Given the description of an element on the screen output the (x, y) to click on. 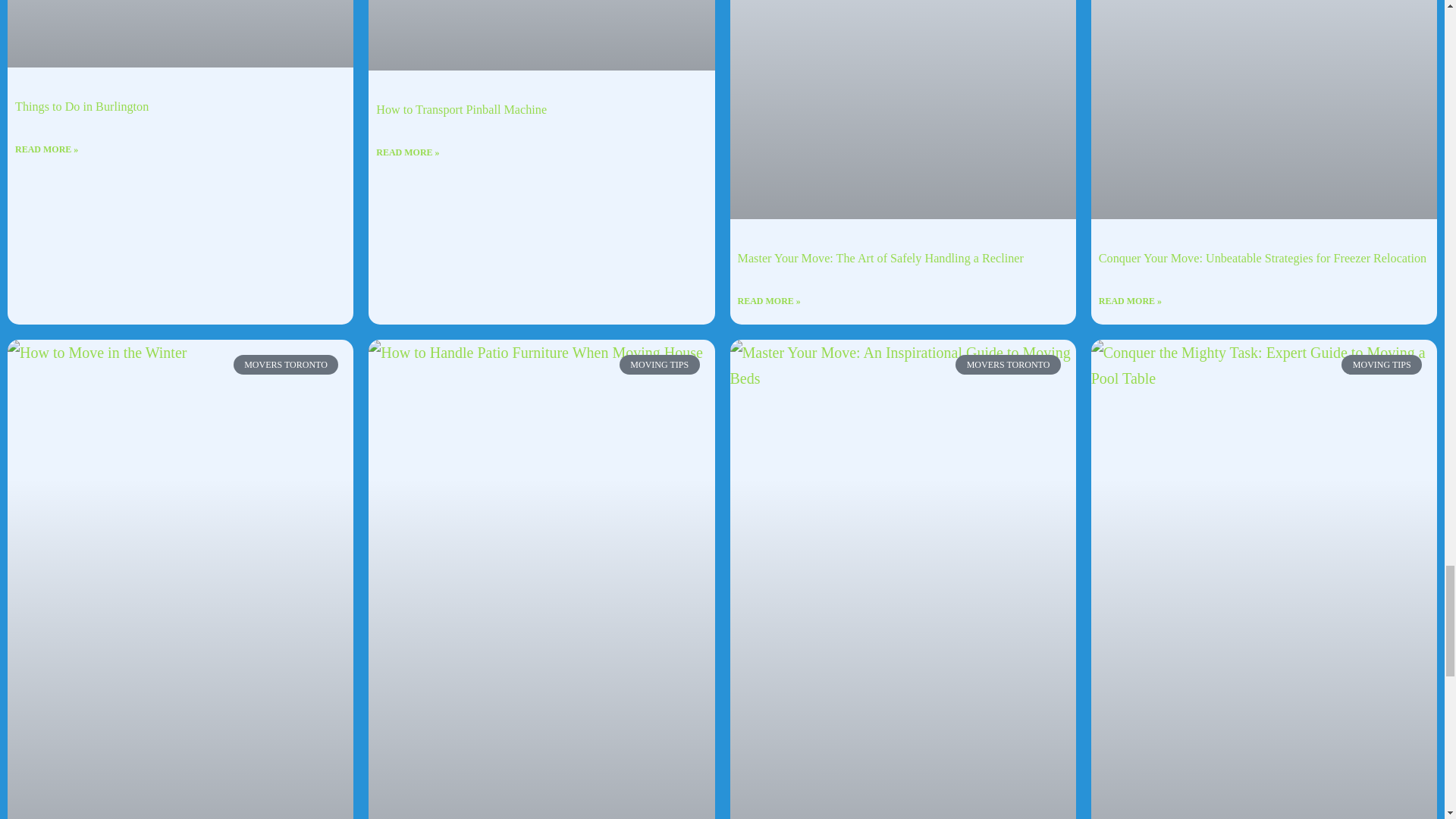
Effective Strategies for Moving a Freezer (1264, 5)
Master Your Move: The Art of Safely Handling a Recliner (902, 5)
How to Handle Patio Furniture When Moving House (541, 512)
Conquer the Mighty Task: Expert Guide to Moving a Pool Table (1264, 512)
Master Your Move: An Inspirational Guide to Moving Beds (902, 512)
How to Move in the Winter (180, 512)
